Given the description of an element on the screen output the (x, y) to click on. 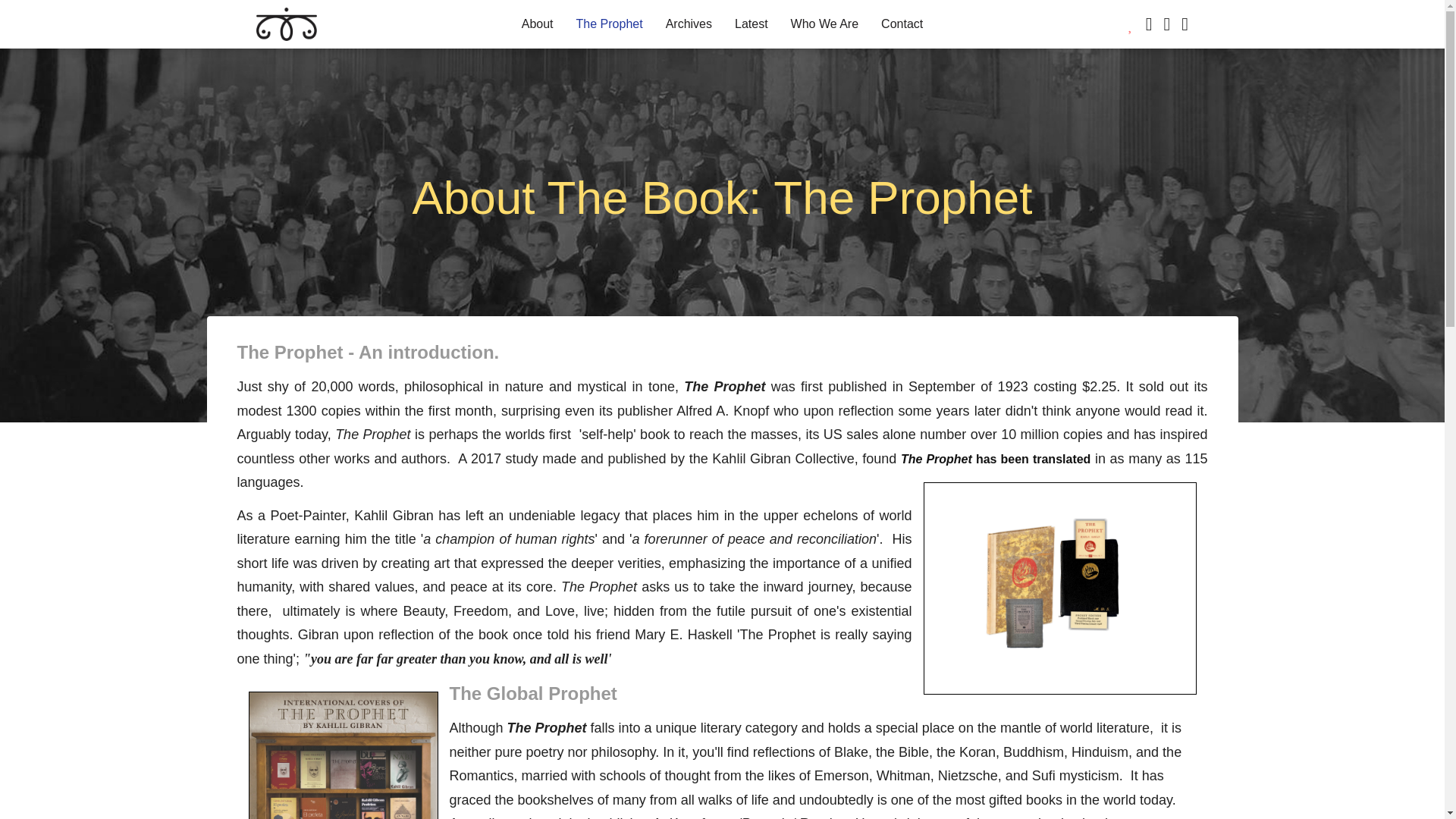
Contact (901, 23)
About (537, 23)
Latest (750, 23)
Who We Are (824, 23)
Archives (688, 23)
Donate (1131, 25)
Latest (750, 23)
The Prophet (608, 23)
Contact (901, 23)
Archives (688, 23)
Who We Are (824, 23)
The Prophet (608, 23)
About (537, 23)
